Given the description of an element on the screen output the (x, y) to click on. 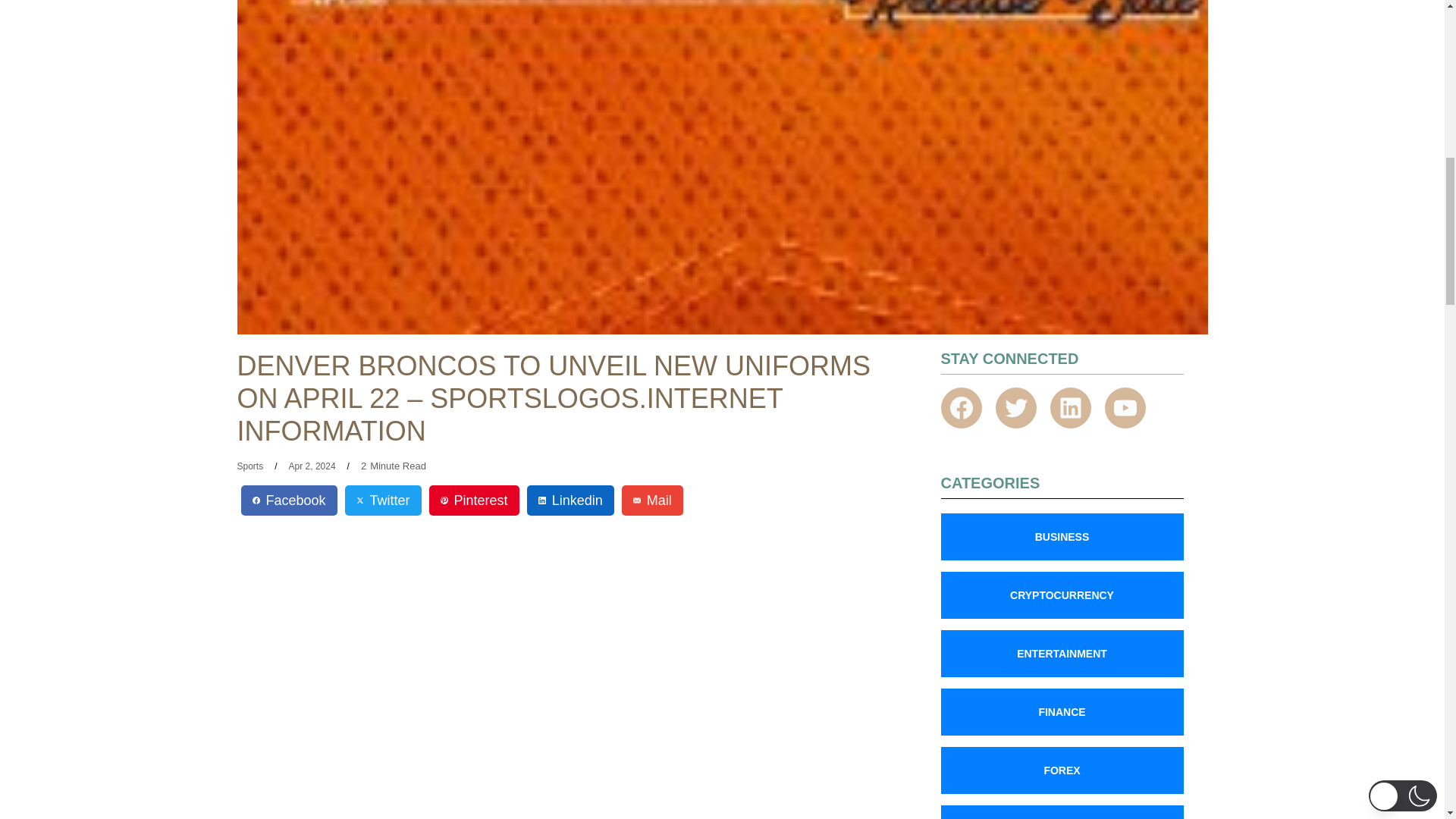
Linkedin (570, 500)
Mail (651, 500)
Pinterest (474, 500)
Facebook (289, 500)
Twitter (383, 500)
Sports (249, 466)
